Given the description of an element on the screen output the (x, y) to click on. 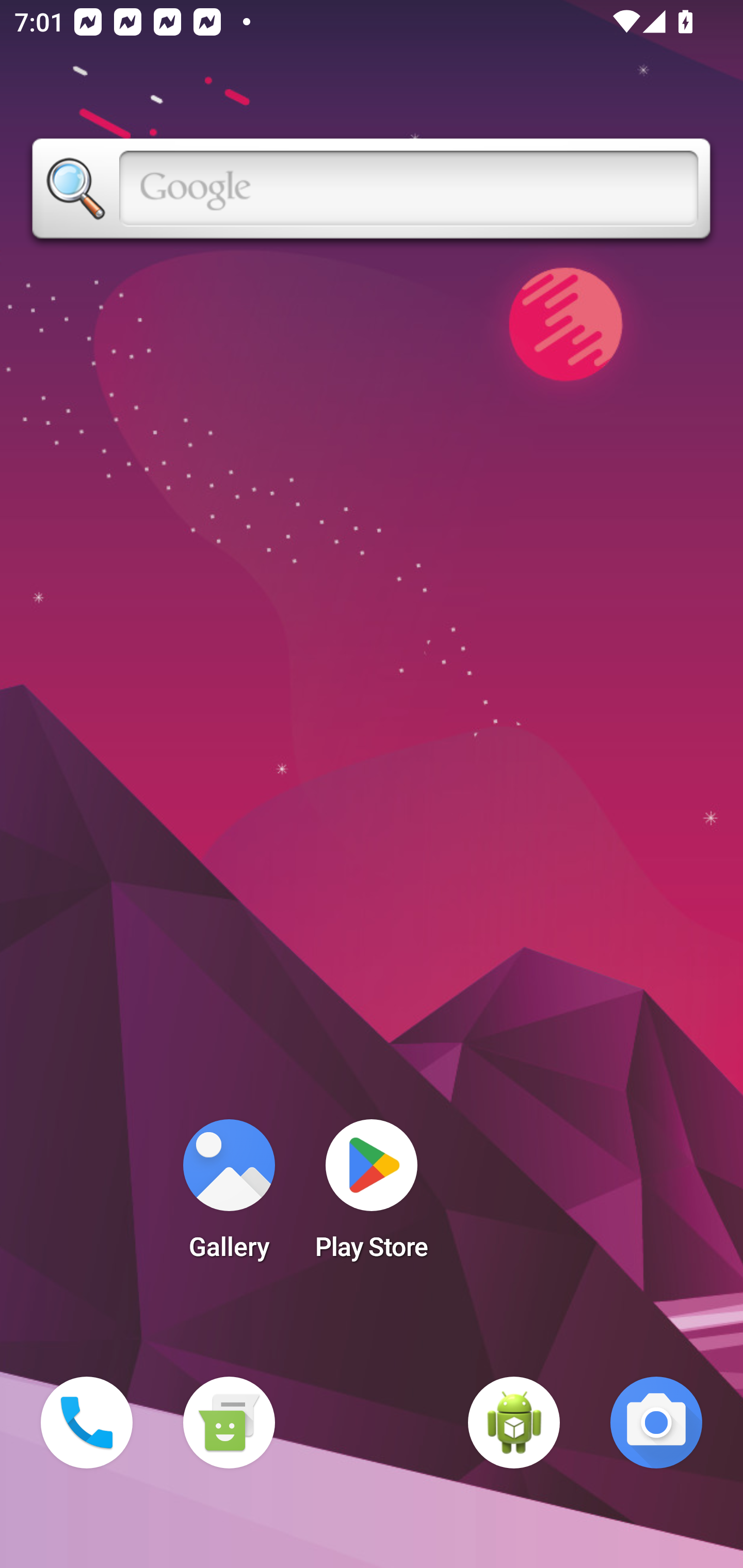
Gallery (228, 1195)
Play Store (371, 1195)
Phone (86, 1422)
Messaging (228, 1422)
WebView Browser Tester (513, 1422)
Camera (656, 1422)
